Given the description of an element on the screen output the (x, y) to click on. 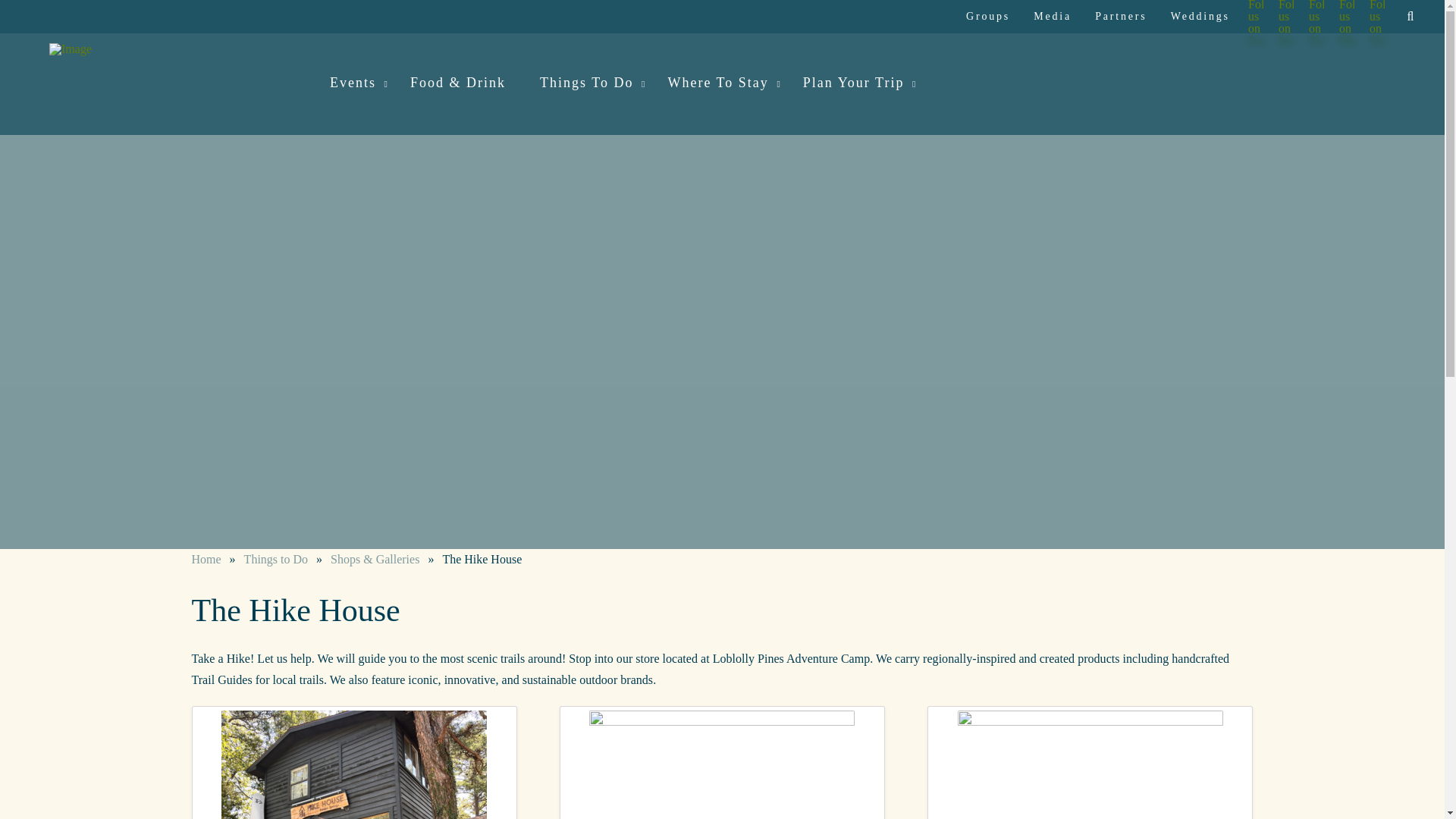
Partners (1119, 16)
Things To Do (588, 84)
Groups (986, 16)
Plan Your Trip (855, 84)
Weddings (1198, 16)
Media (1050, 16)
Where To Stay (719, 84)
